Given the description of an element on the screen output the (x, y) to click on. 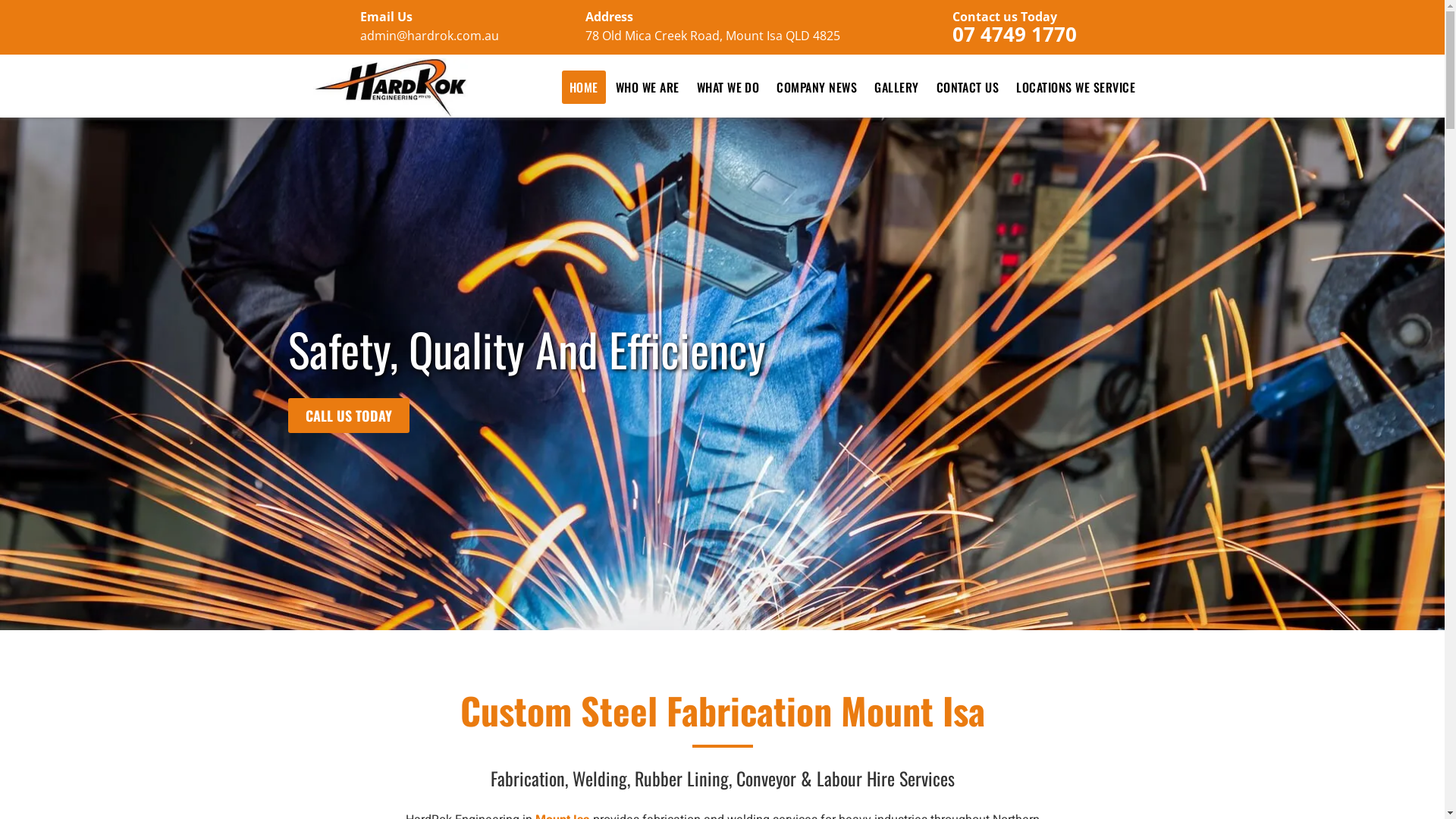
CALL US TODAY Element type: text (348, 415)
HOME Element type: text (583, 86)
COMPANY NEWS Element type: text (816, 86)
CONTACT US Element type: text (967, 86)
admin@hardrok.com.au Element type: text (429, 35)
Welding & Fabrication in Mount Isa Element type: hover (390, 87)
WHO WE ARE Element type: text (647, 86)
LOCATIONS WE SERVICE Element type: text (1075, 86)
07 4749 1770 Element type: text (1014, 33)
78 Old Mica Creek Road, Mount Isa QLD 4825 Element type: text (712, 35)
GALLERY Element type: text (895, 86)
WHAT WE DO Element type: text (728, 86)
